Given the description of an element on the screen output the (x, y) to click on. 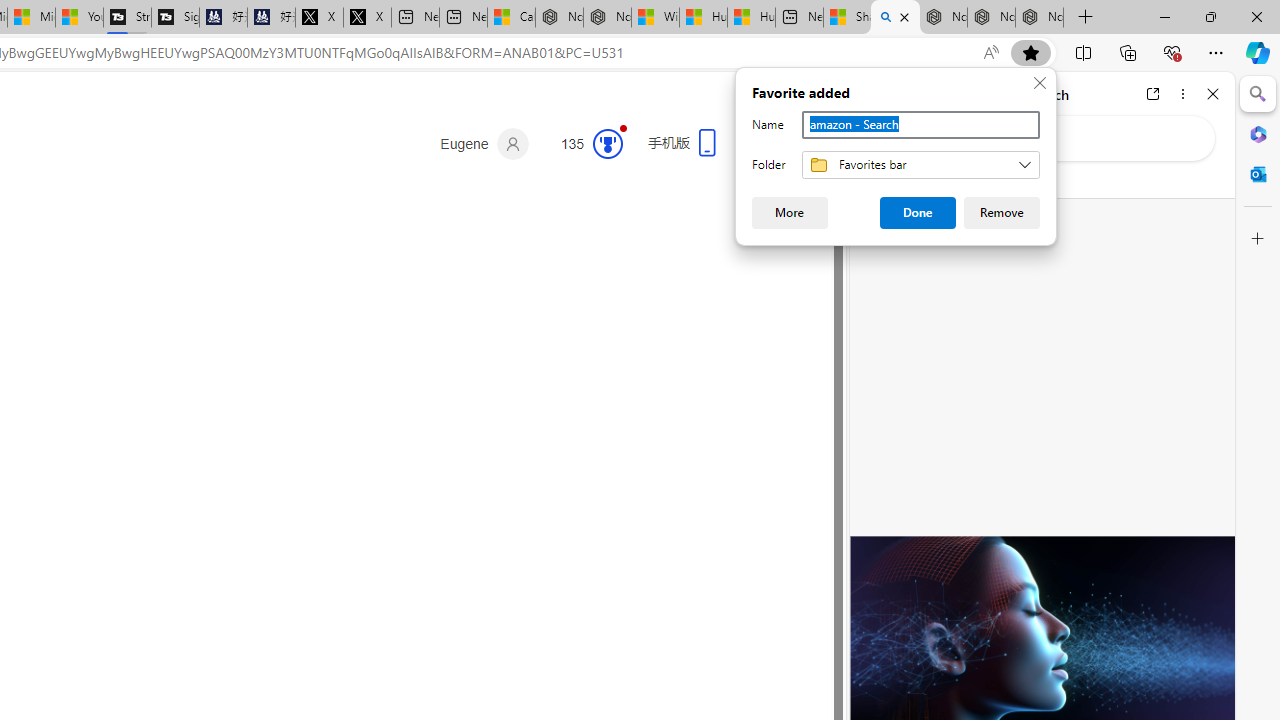
Outlook (1258, 174)
Customize (1258, 239)
Microsoft Rewards 132 (584, 143)
Class: medal-svg-animation (607, 143)
Eugene (484, 143)
